Given the description of an element on the screen output the (x, y) to click on. 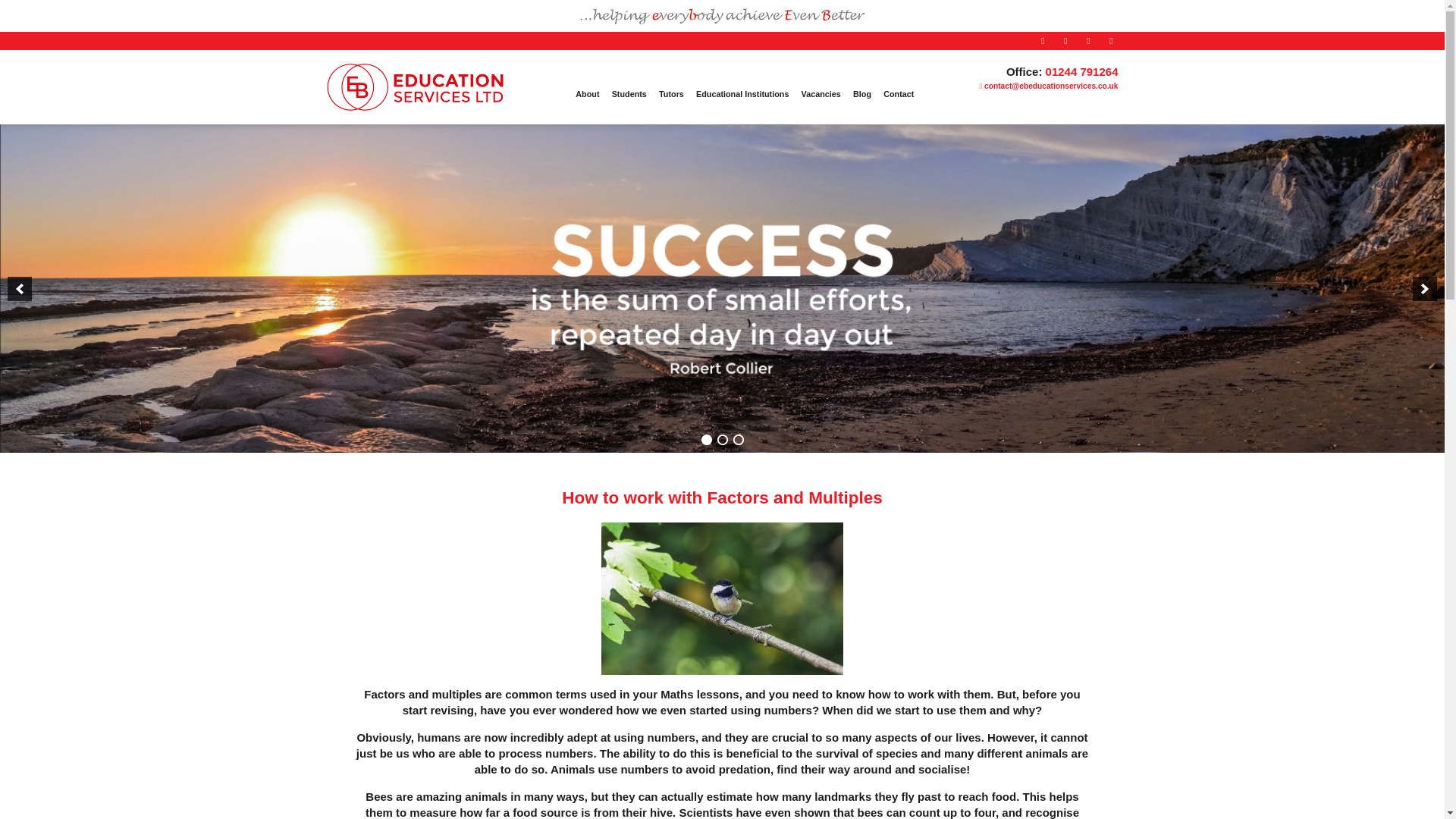
Join us on linkedin (1110, 40)
EB Education Services Ltd (414, 103)
Follow us on twitter (1065, 40)
Follow us on Instagram (1088, 40)
Find us on facebook (1042, 40)
About (587, 93)
